Given the description of an element on the screen output the (x, y) to click on. 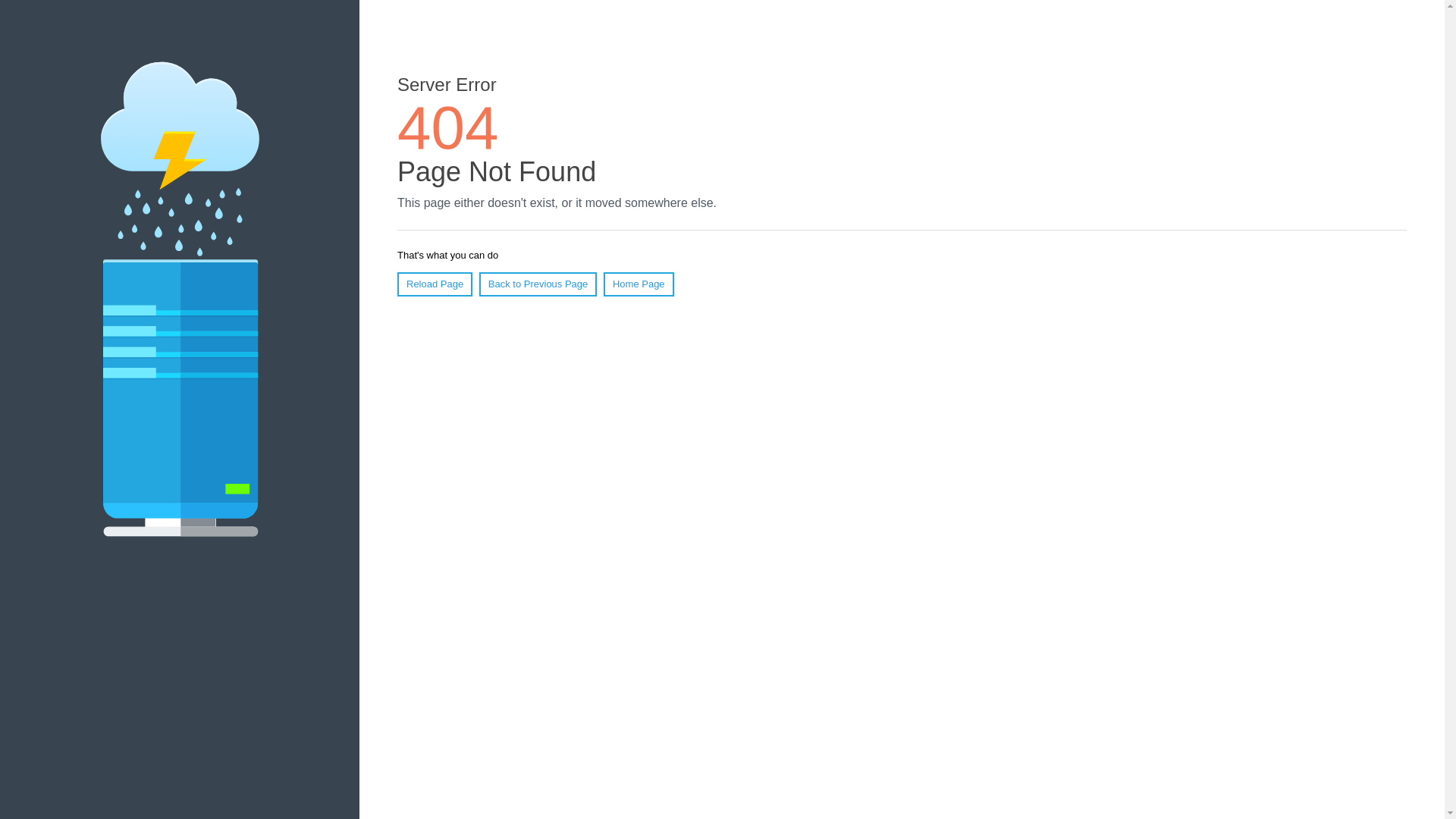
Home Page Element type: text (638, 284)
Reload Page Element type: text (434, 284)
Back to Previous Page Element type: text (538, 284)
